Given the description of an element on the screen output the (x, y) to click on. 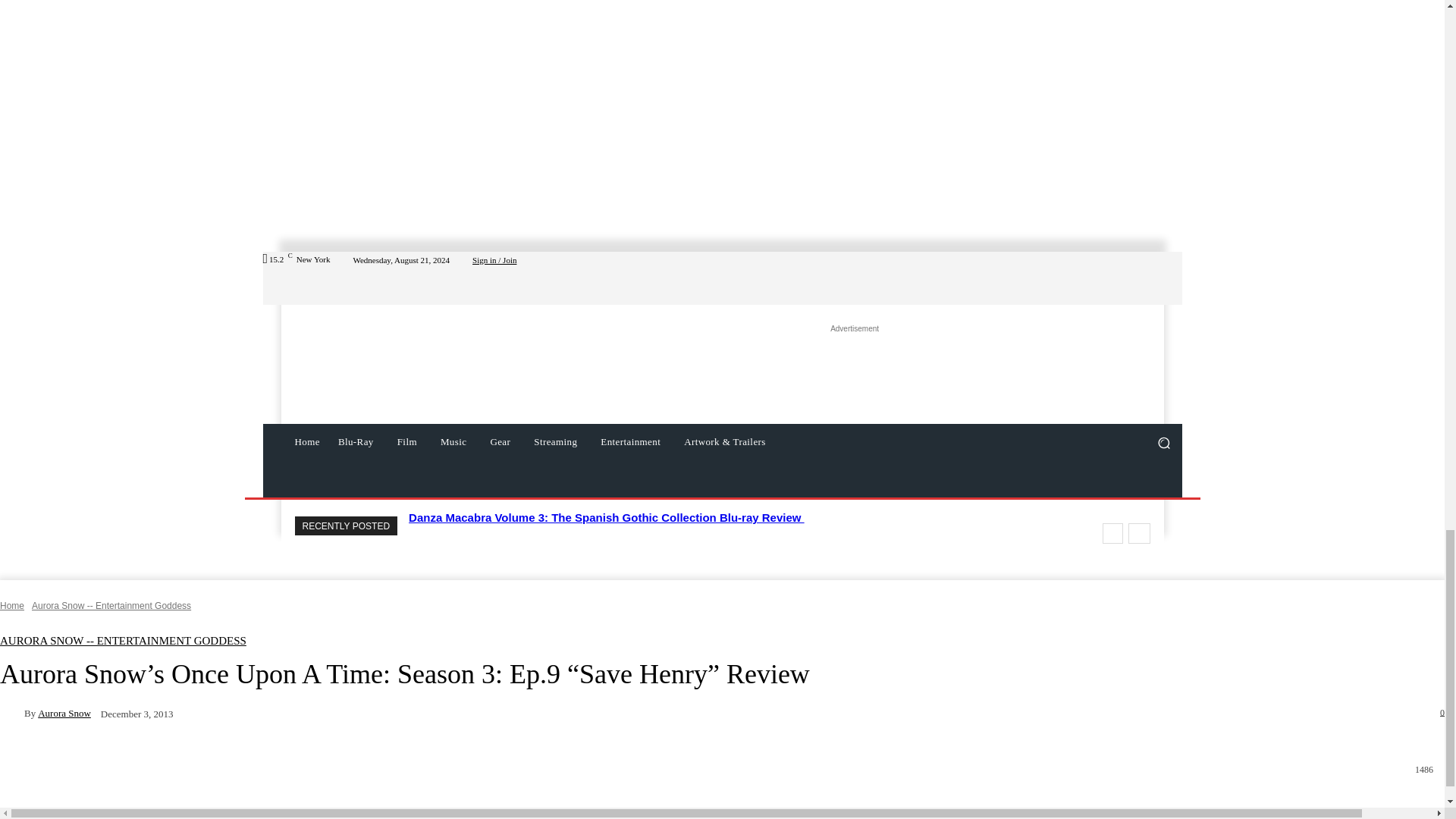
Vimeo (1153, 278)
Twitter (1135, 278)
Instagram (1117, 278)
Youtube (1171, 278)
Facebook (1099, 278)
